Given the description of an element on the screen output the (x, y) to click on. 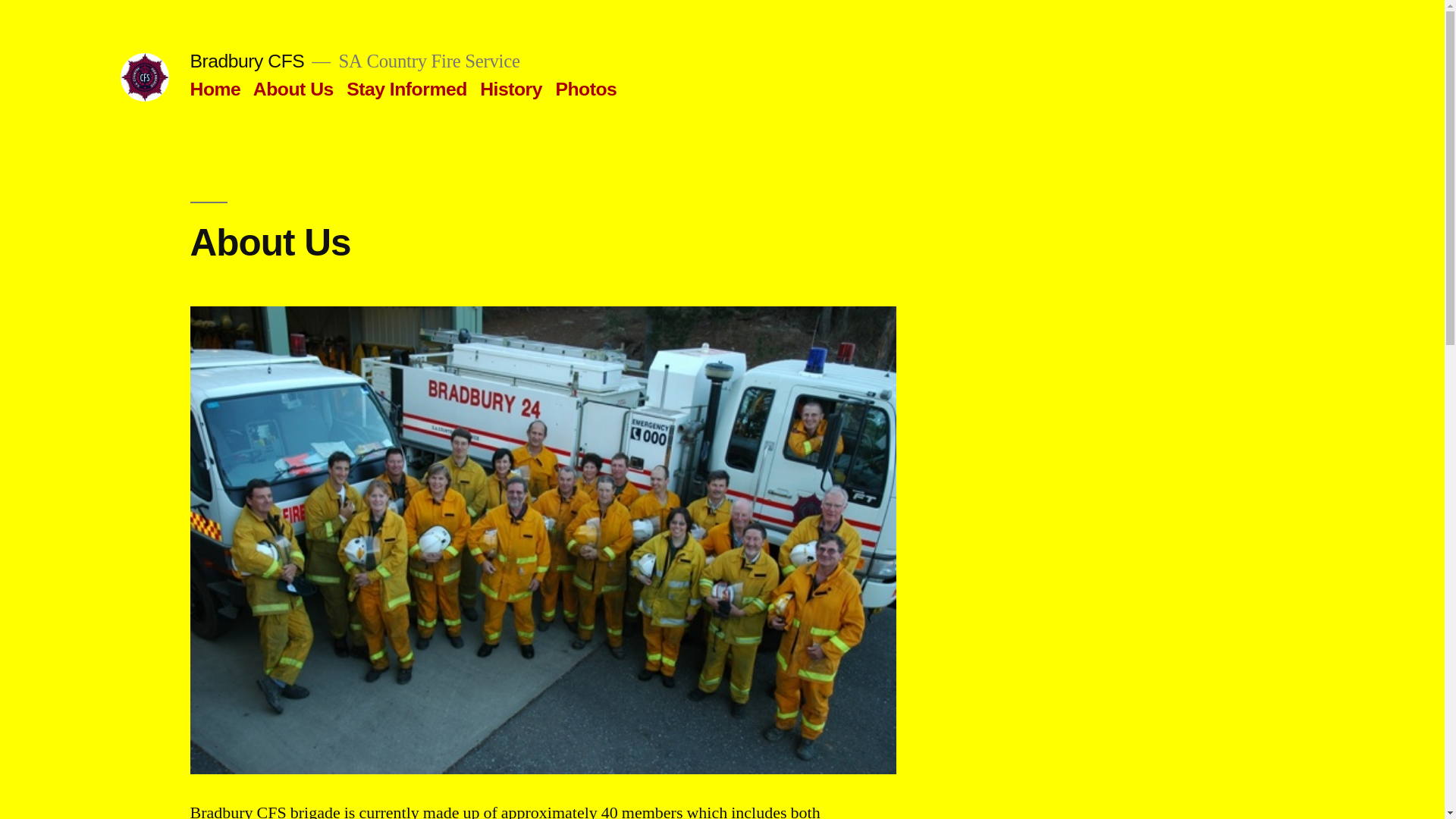
Home Element type: text (214, 88)
Stay Informed Element type: text (406, 88)
Photos Element type: text (585, 88)
About Us Element type: text (293, 88)
Bradbury CFS Element type: text (246, 60)
History Element type: text (511, 88)
